Given the description of an element on the screen output the (x, y) to click on. 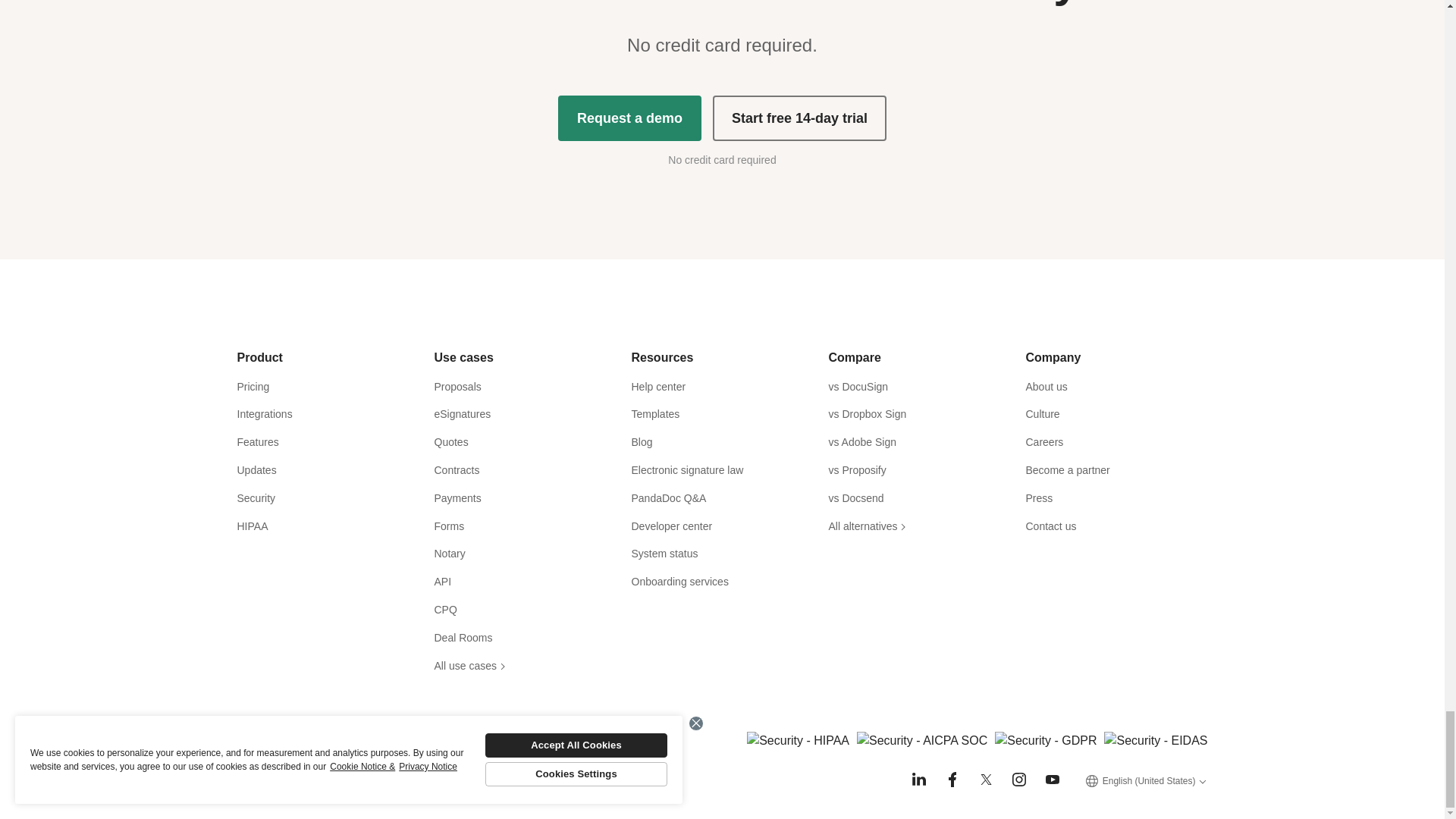
Youtube (1052, 779)
Twitter (985, 779)
LinkedIn (919, 779)
Facebook (951, 779)
Instagram (1018, 779)
